Given the description of an element on the screen output the (x, y) to click on. 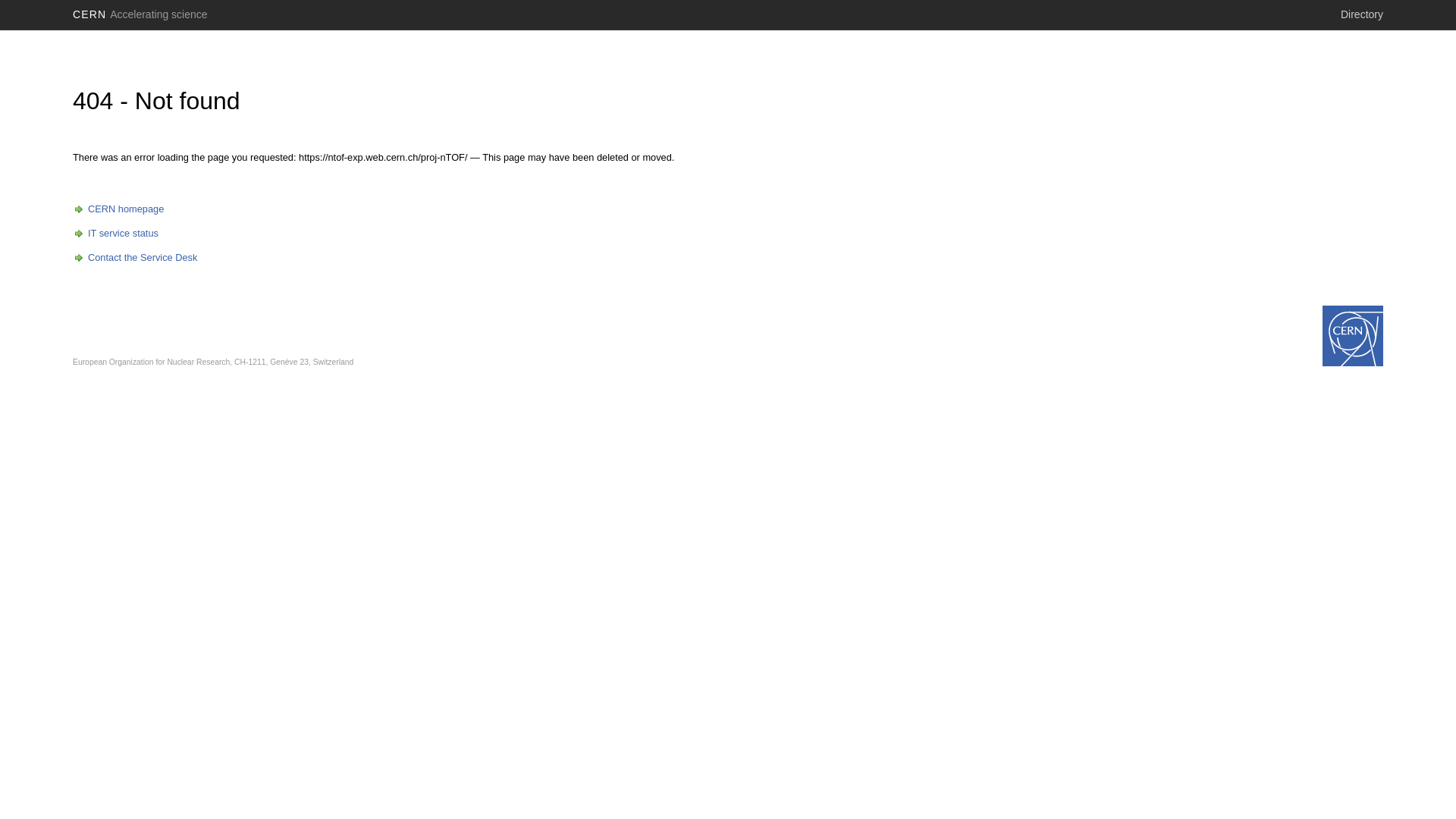
Directory Element type: text (1361, 14)
CERN Accelerating science Element type: text (139, 14)
Contact the Service Desk Element type: text (134, 257)
IT service status Element type: text (115, 232)
www.cern.ch Element type: hover (1352, 335)
CERN homepage Element type: text (117, 208)
